Given the description of an element on the screen output the (x, y) to click on. 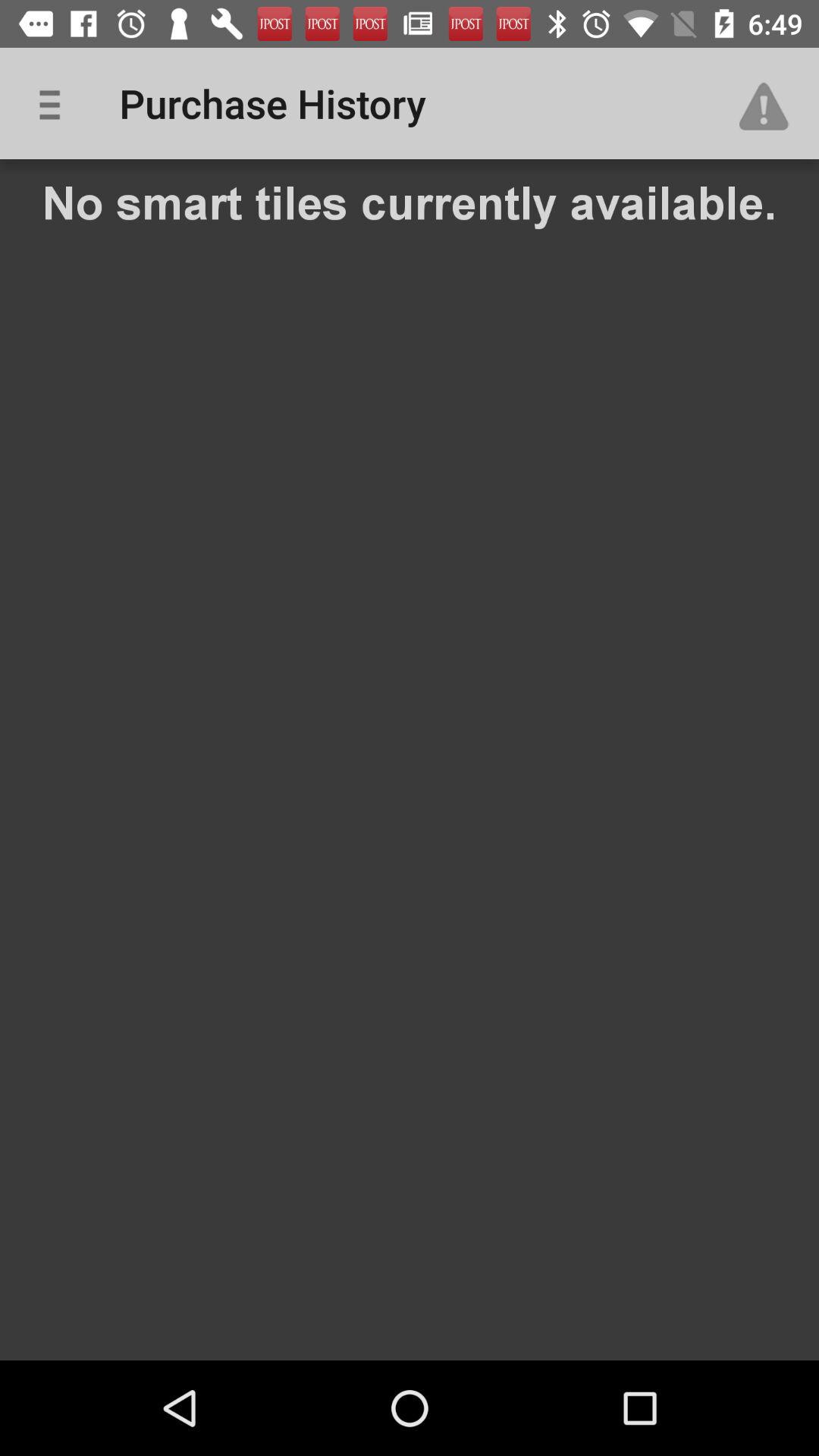
launch the icon above no smart tiles (55, 103)
